Given the description of an element on the screen output the (x, y) to click on. 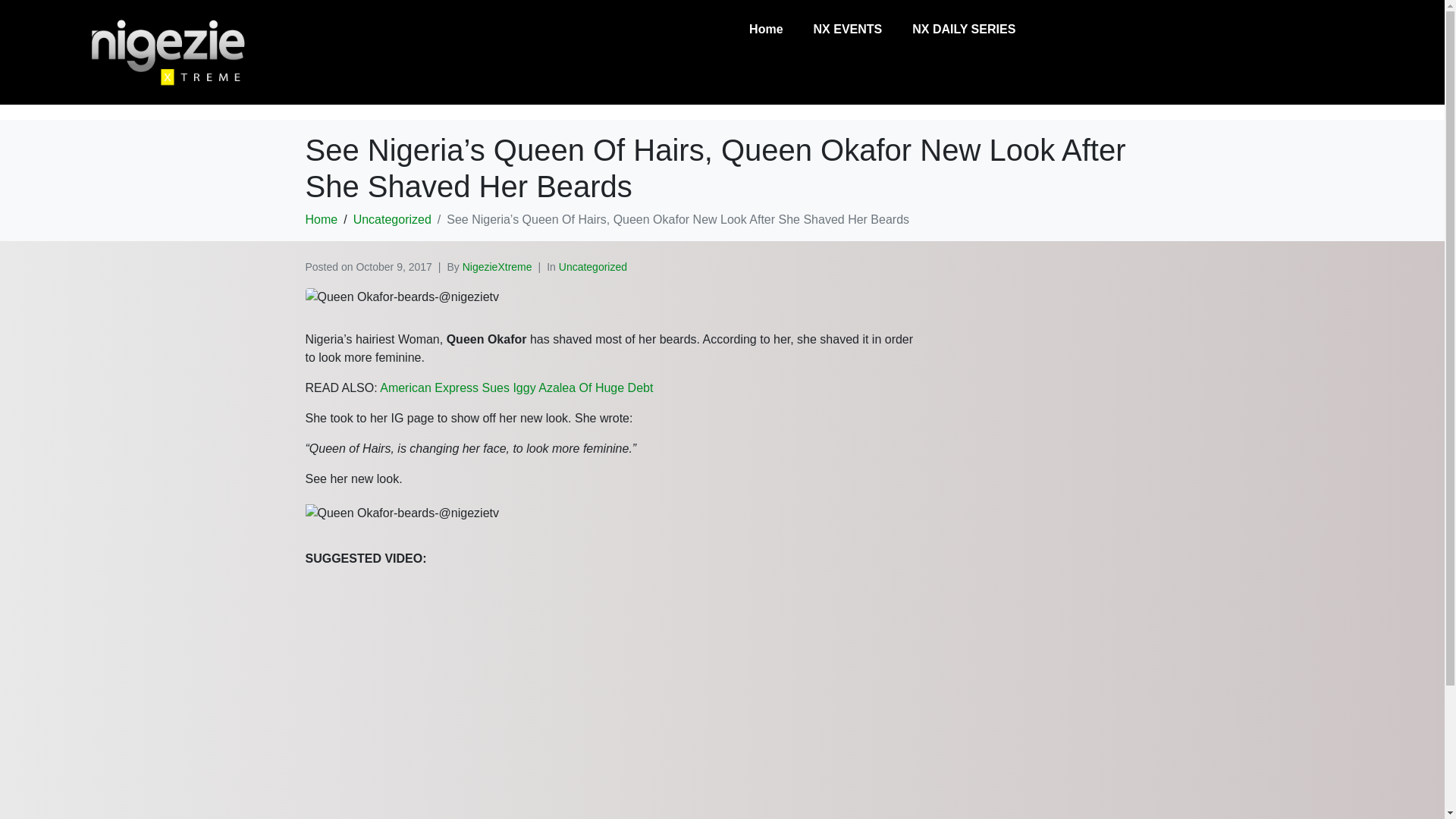
Uncategorized (593, 266)
NX DAILY SERIES (963, 29)
Uncategorized (391, 219)
American Express Sues Iggy Azalea Of Huge Debt (516, 387)
Home (765, 29)
Home (320, 219)
NigezieXtreme (497, 266)
NX EVENTS (847, 29)
